Given the description of an element on the screen output the (x, y) to click on. 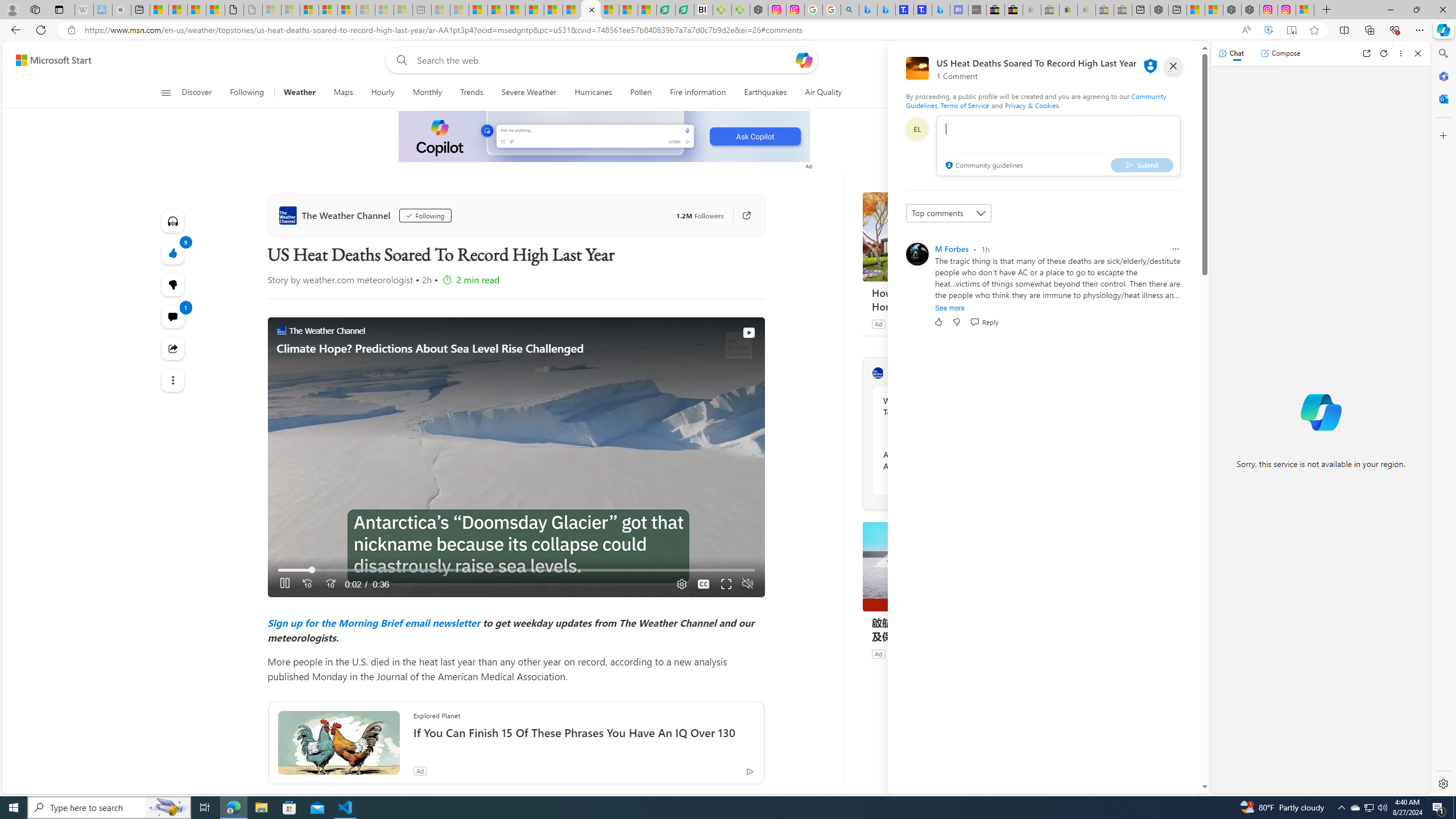
Air Quality (818, 92)
Monthly (427, 92)
Community guidelines (983, 165)
Fullscreen (726, 583)
Seek Back (306, 583)
Seek Forward (330, 583)
